Given the description of an element on the screen output the (x, y) to click on. 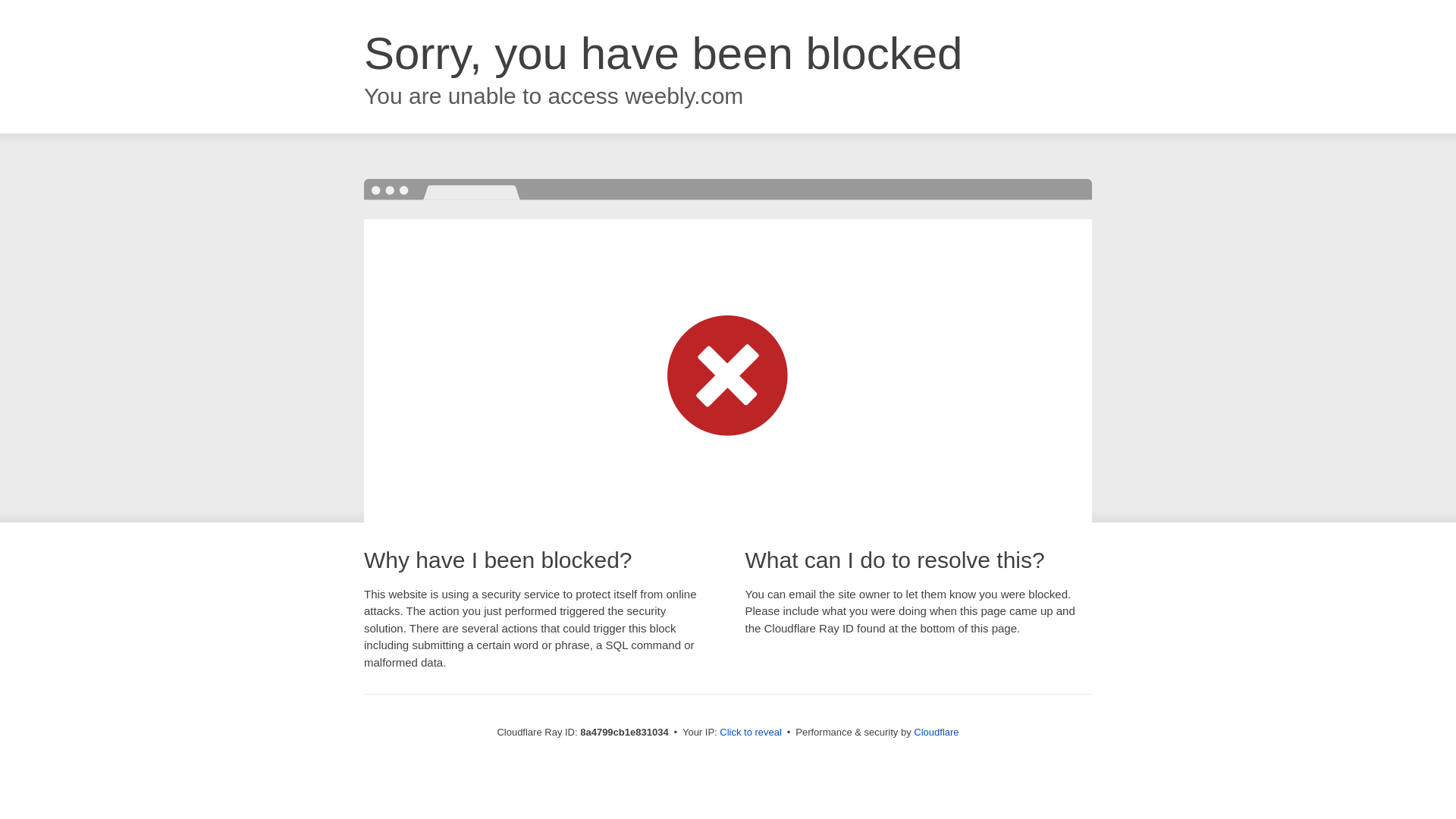
Cloudflare (936, 731)
Click to reveal (750, 732)
